Given the description of an element on the screen output the (x, y) to click on. 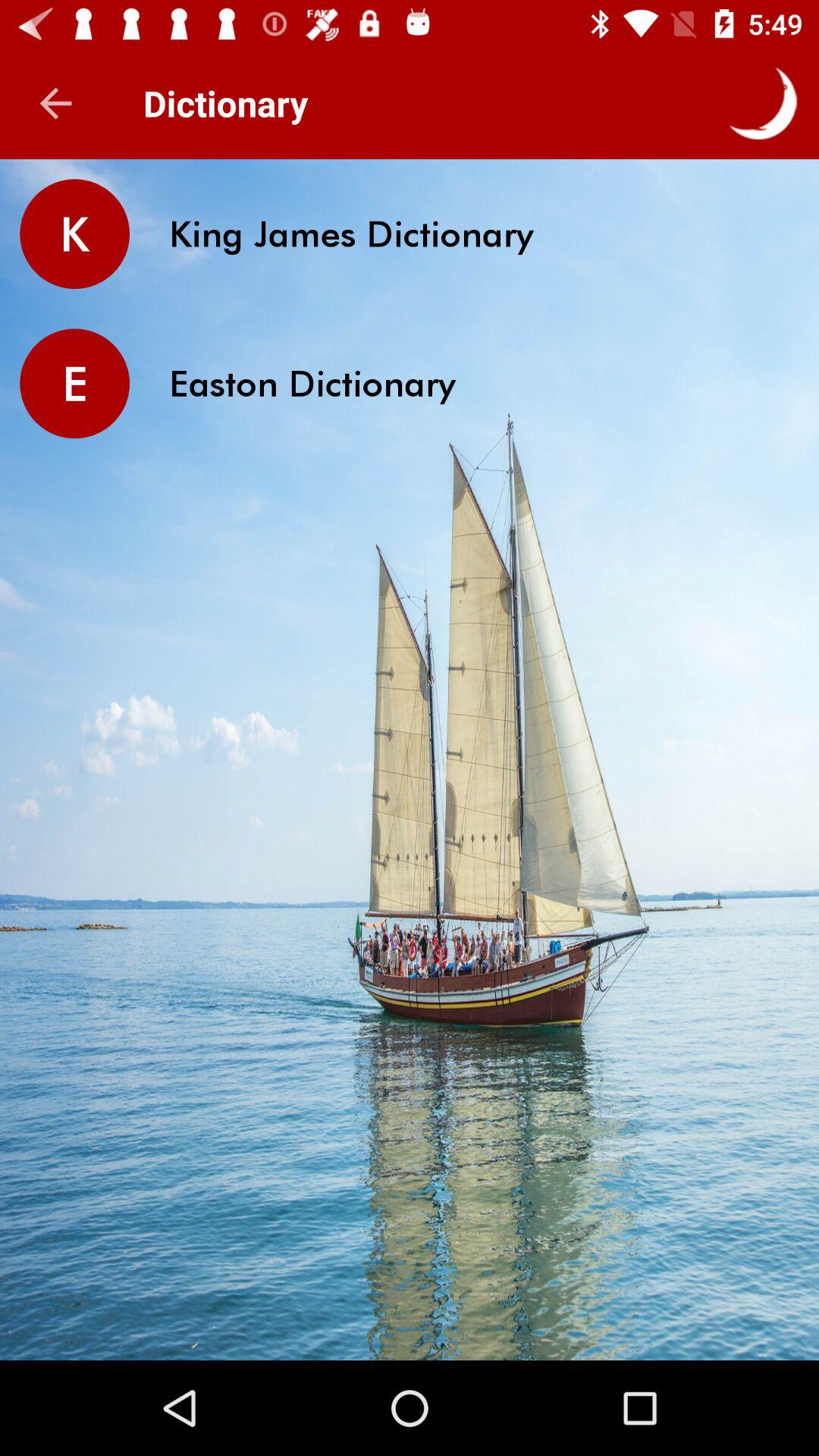
advertisement page (409, 1310)
